Given the description of an element on the screen output the (x, y) to click on. 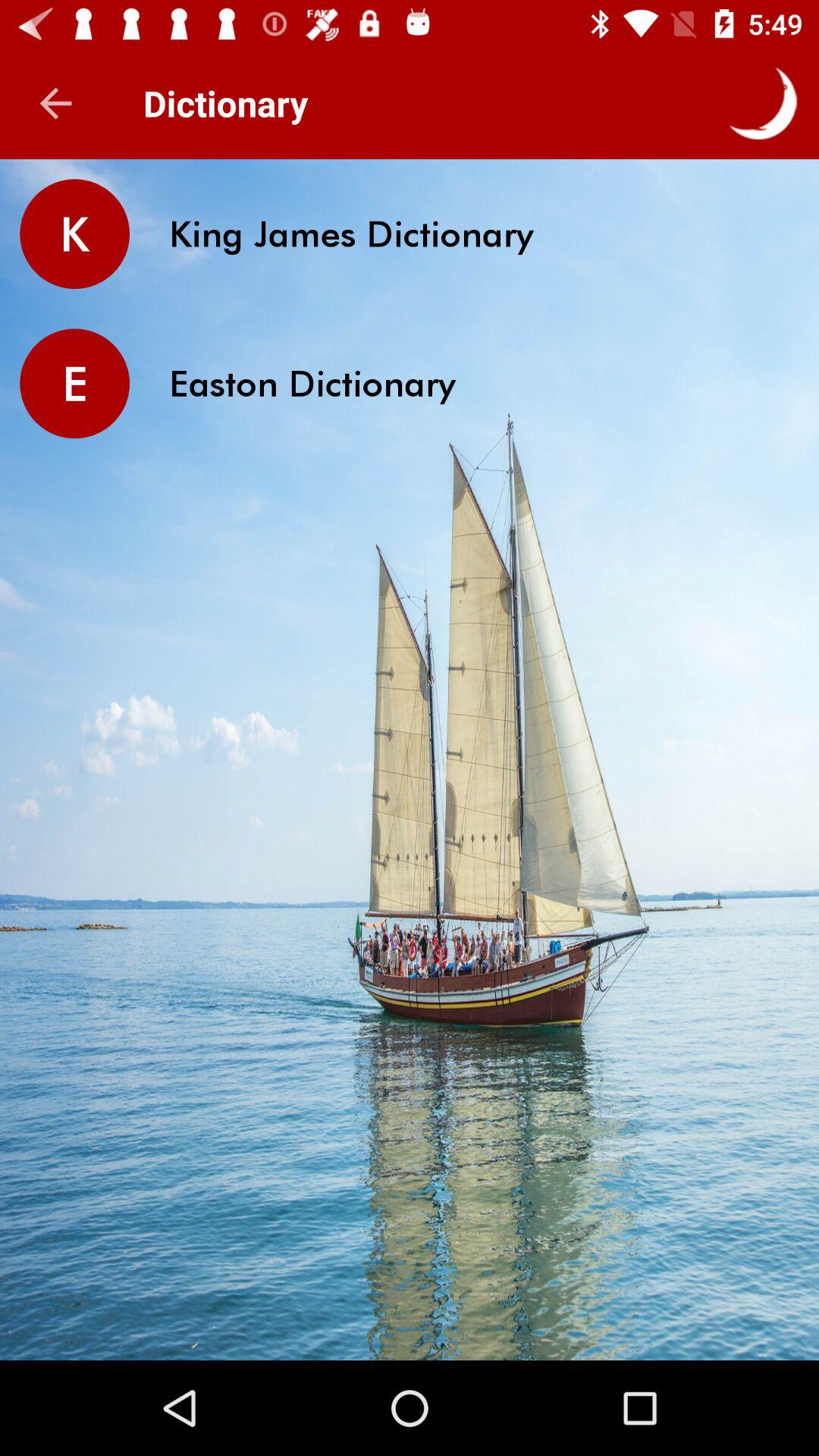
advertisement page (409, 1310)
